Given the description of an element on the screen output the (x, y) to click on. 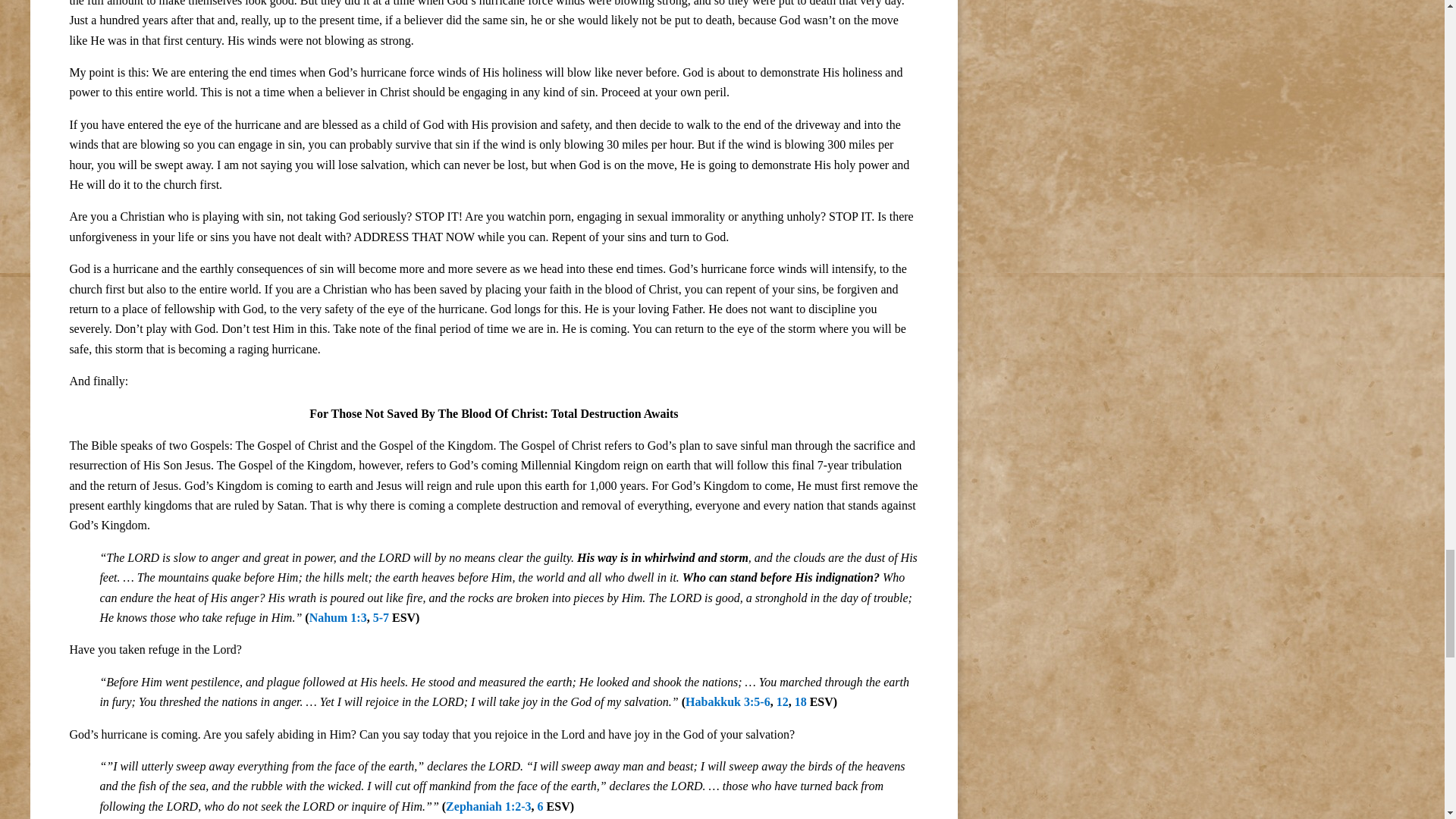
18 (800, 701)
Zephaniah 1:2-3 (488, 806)
5-7 (380, 617)
12 (782, 701)
Nahum 1:3 (337, 617)
Habakkuk 3:5-6 (727, 701)
